Given the description of an element on the screen output the (x, y) to click on. 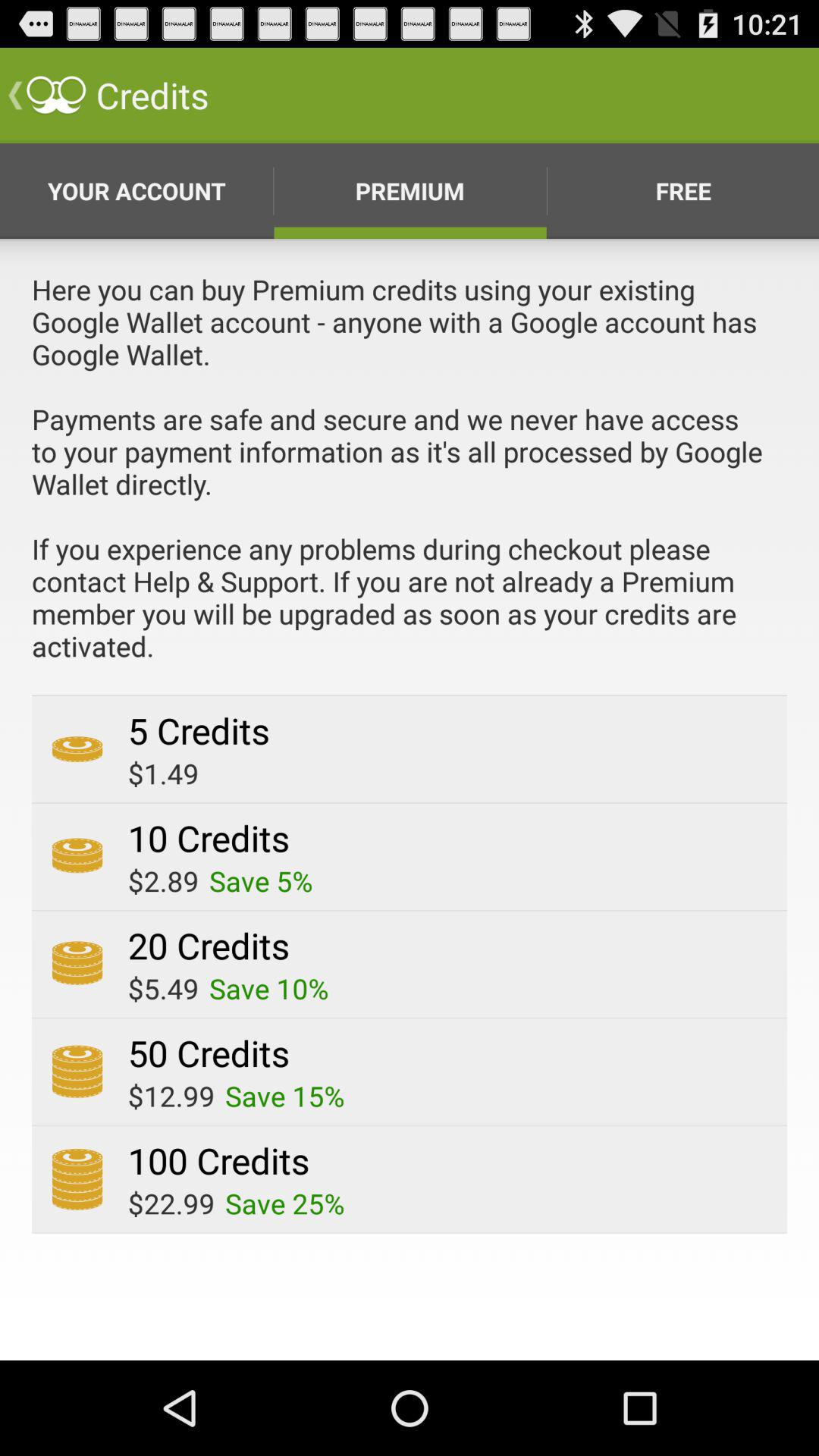
press the app below the here you can (198, 730)
